Given the description of an element on the screen output the (x, y) to click on. 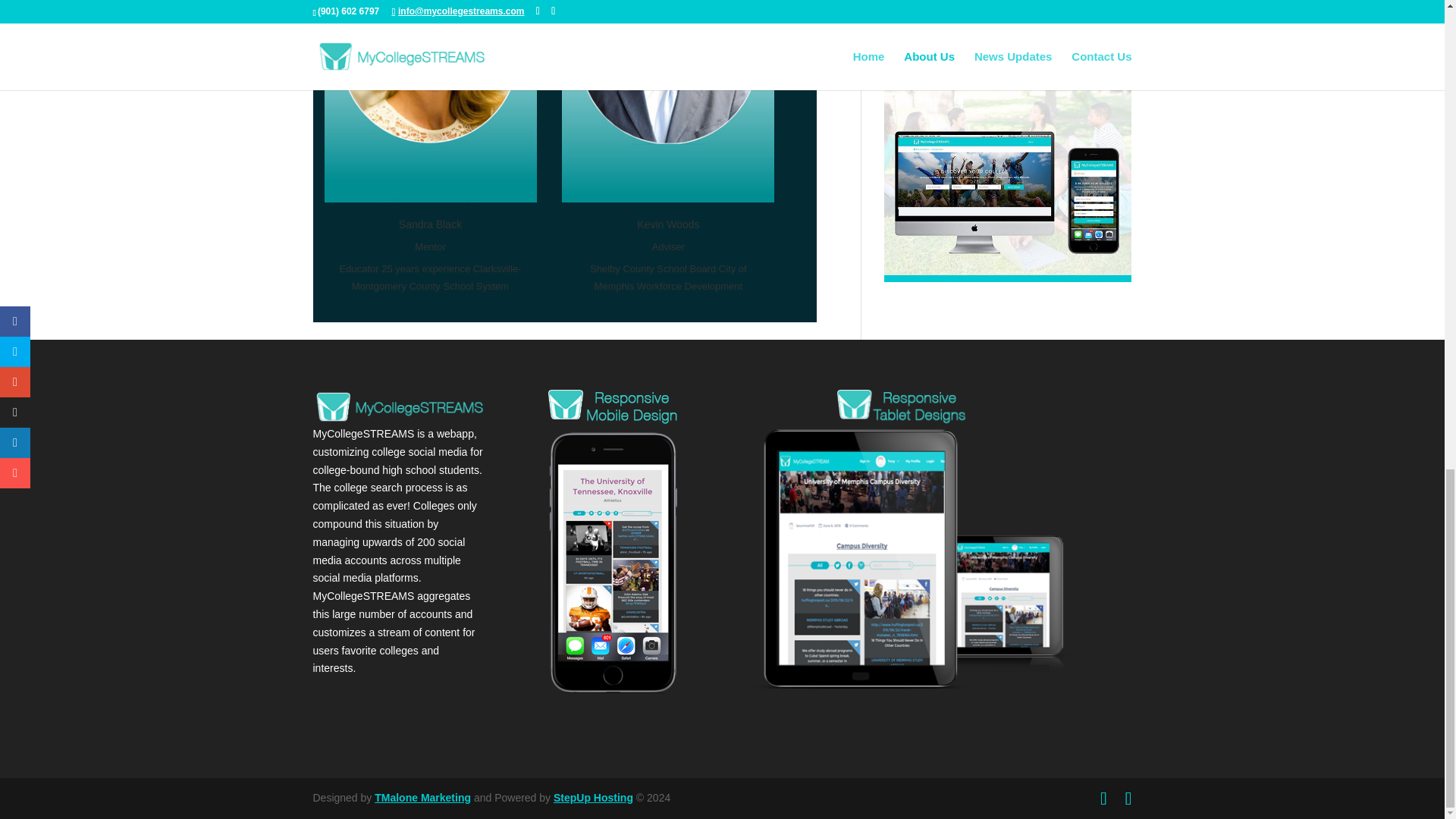
StepUp Hosting (593, 797)
TMalone Marketing (422, 797)
